Given the description of an element on the screen output the (x, y) to click on. 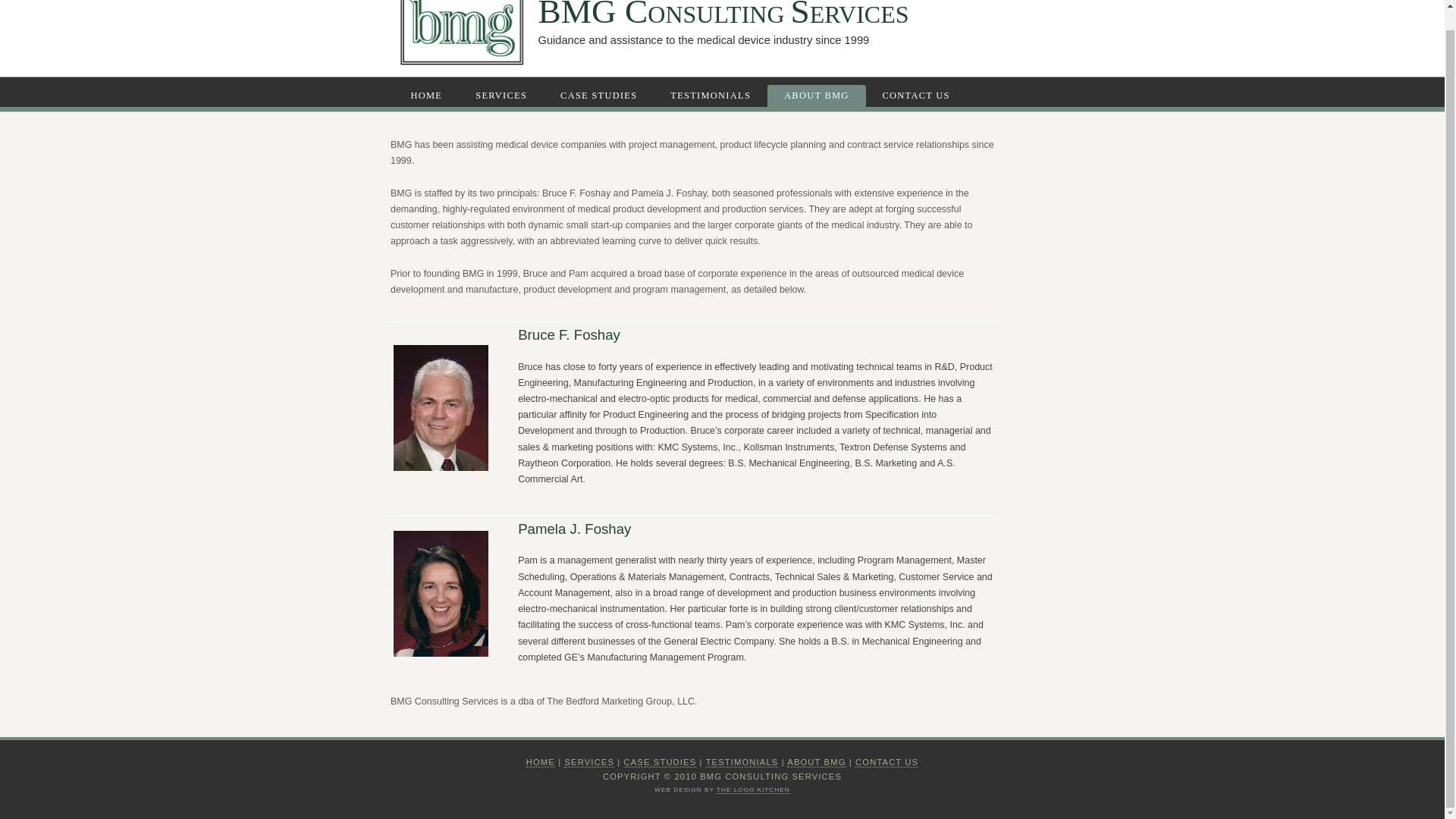
ABOUT BMG (816, 762)
TESTIMONIALS (712, 95)
ABOUT BMG (817, 96)
CASE STUDIES (660, 762)
TESTIMONIALS (742, 762)
THE LOGO KITCHEN (753, 789)
CASE STUDIES (600, 95)
CONTACT US (918, 95)
SERVICES (589, 762)
HOME (429, 95)
HOME (539, 762)
BMG CONSULTING SERVICES (723, 15)
SERVICES (503, 95)
CONTACT US (887, 762)
